Given the description of an element on the screen output the (x, y) to click on. 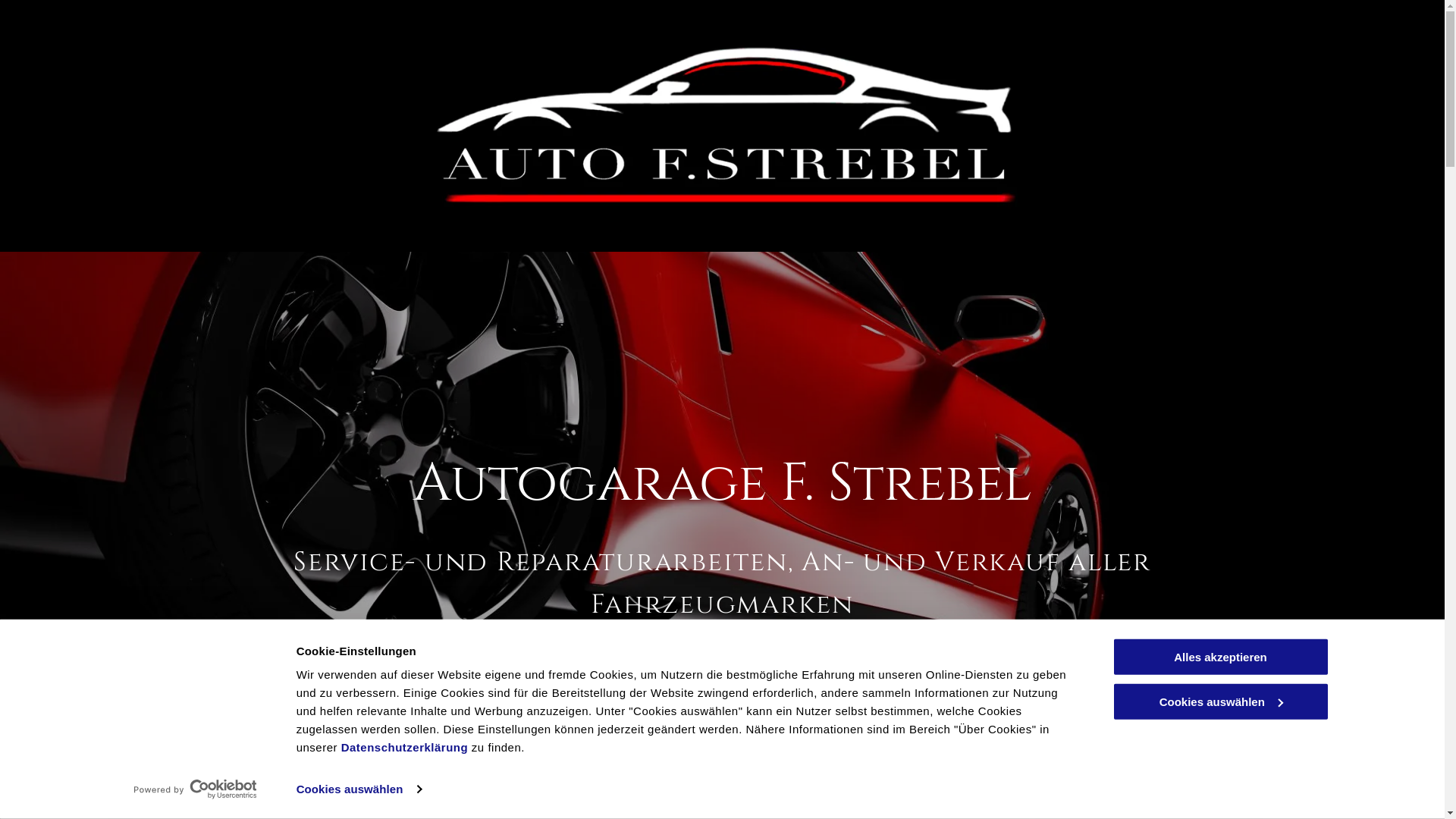
041 260 28 28 Element type: text (721, 692)
Alles akzeptieren Element type: text (1219, 656)
